Given the description of an element on the screen output the (x, y) to click on. 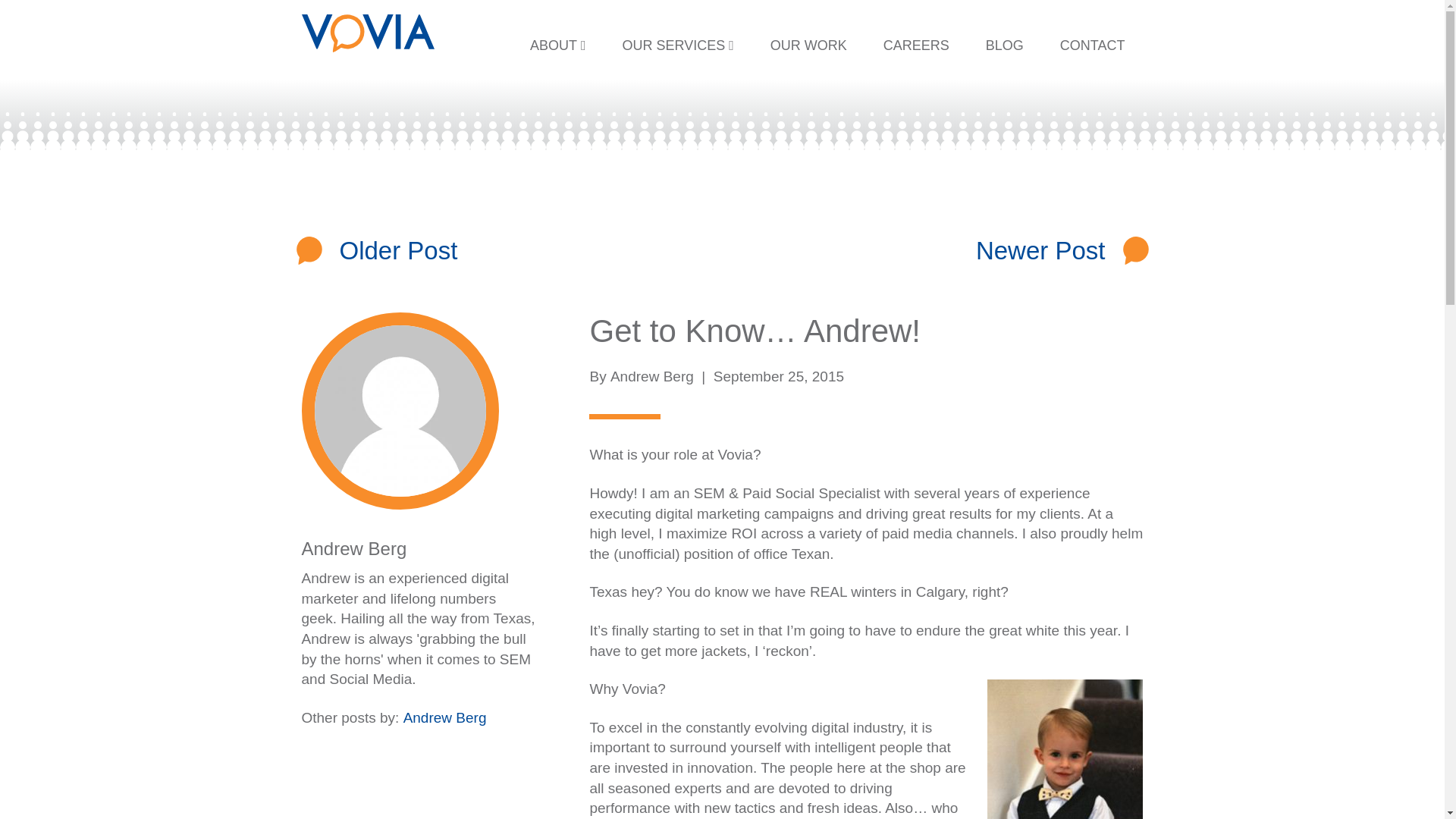
CONTACT (1092, 45)
CAREERS (916, 45)
OUR WORK (808, 45)
Posts by Andrew Berg (444, 717)
Posts by Andrew Berg (354, 548)
ABOUT (558, 45)
BLOG (1005, 45)
Older Post (398, 250)
Posts by Andrew Berg (652, 376)
OUR SERVICES (677, 45)
